Given the description of an element on the screen output the (x, y) to click on. 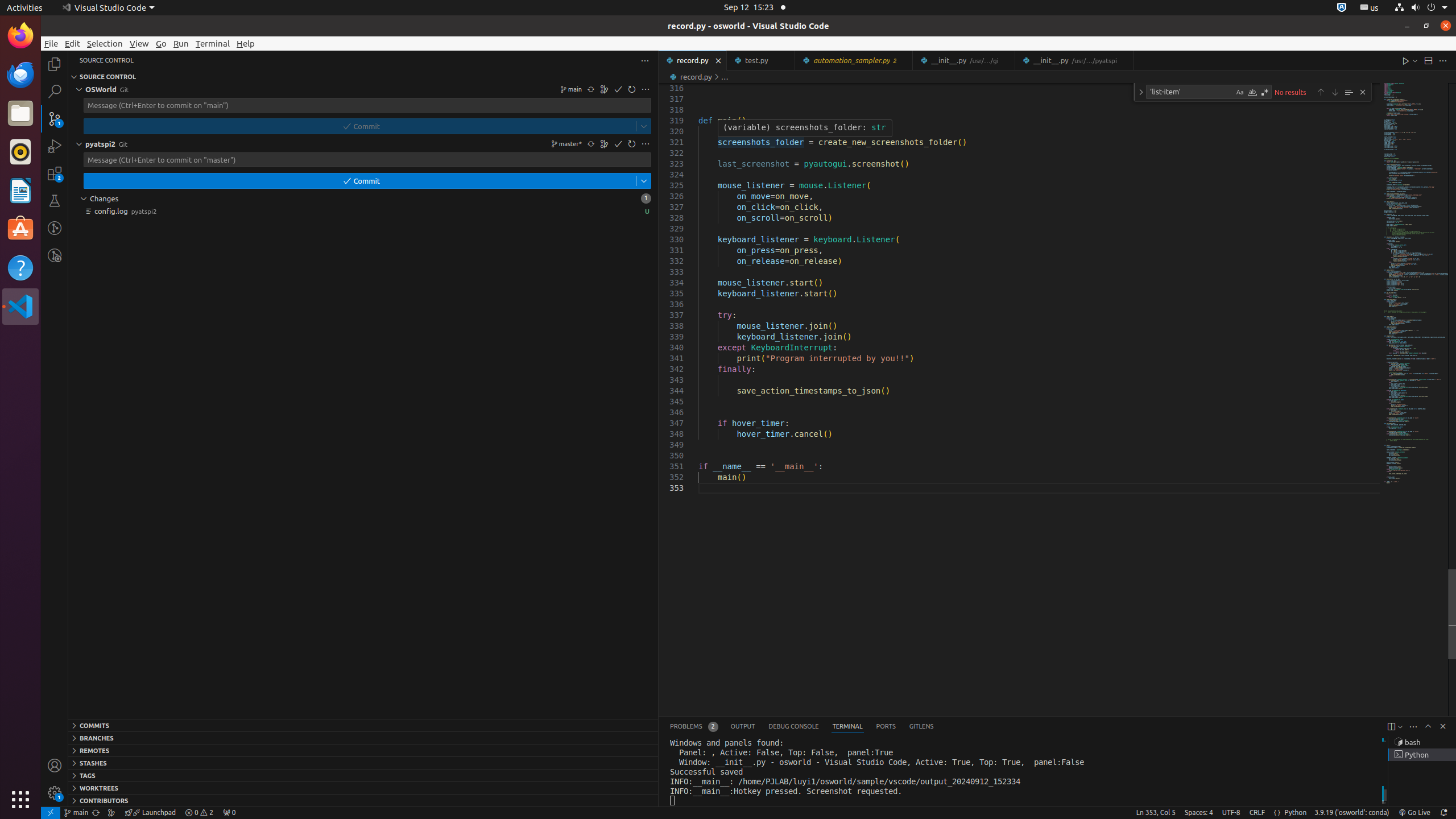
Refresh Element type: push-button (631, 143)
Hide Panel Element type: push-button (1442, 726)
Close (Escape) Element type: push-button (1362, 91)
test.py Element type: page-tab (760, 60)
